Given the description of an element on the screen output the (x, y) to click on. 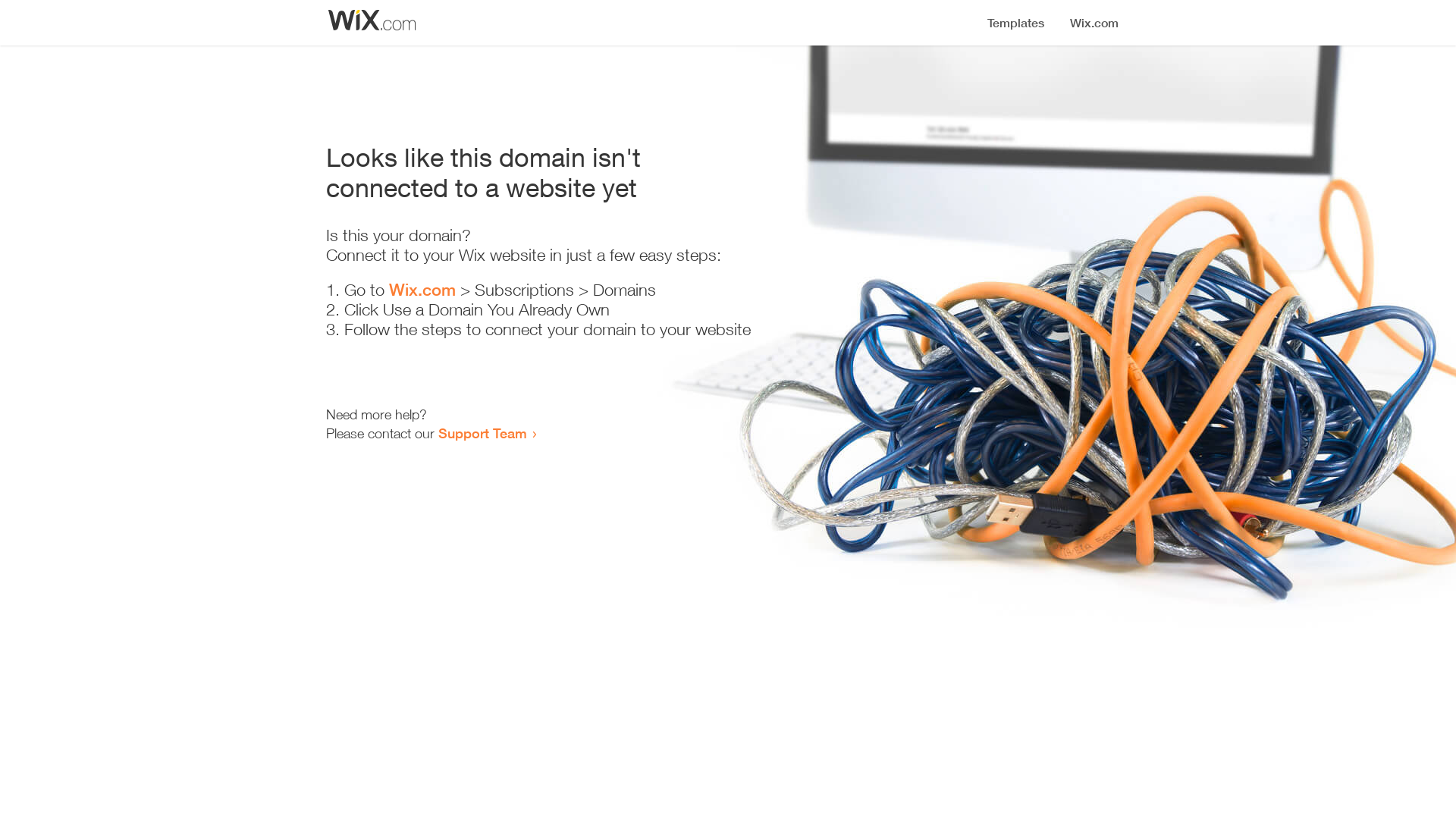
Wix.com Element type: text (422, 289)
Support Team Element type: text (482, 432)
